Given the description of an element on the screen output the (x, y) to click on. 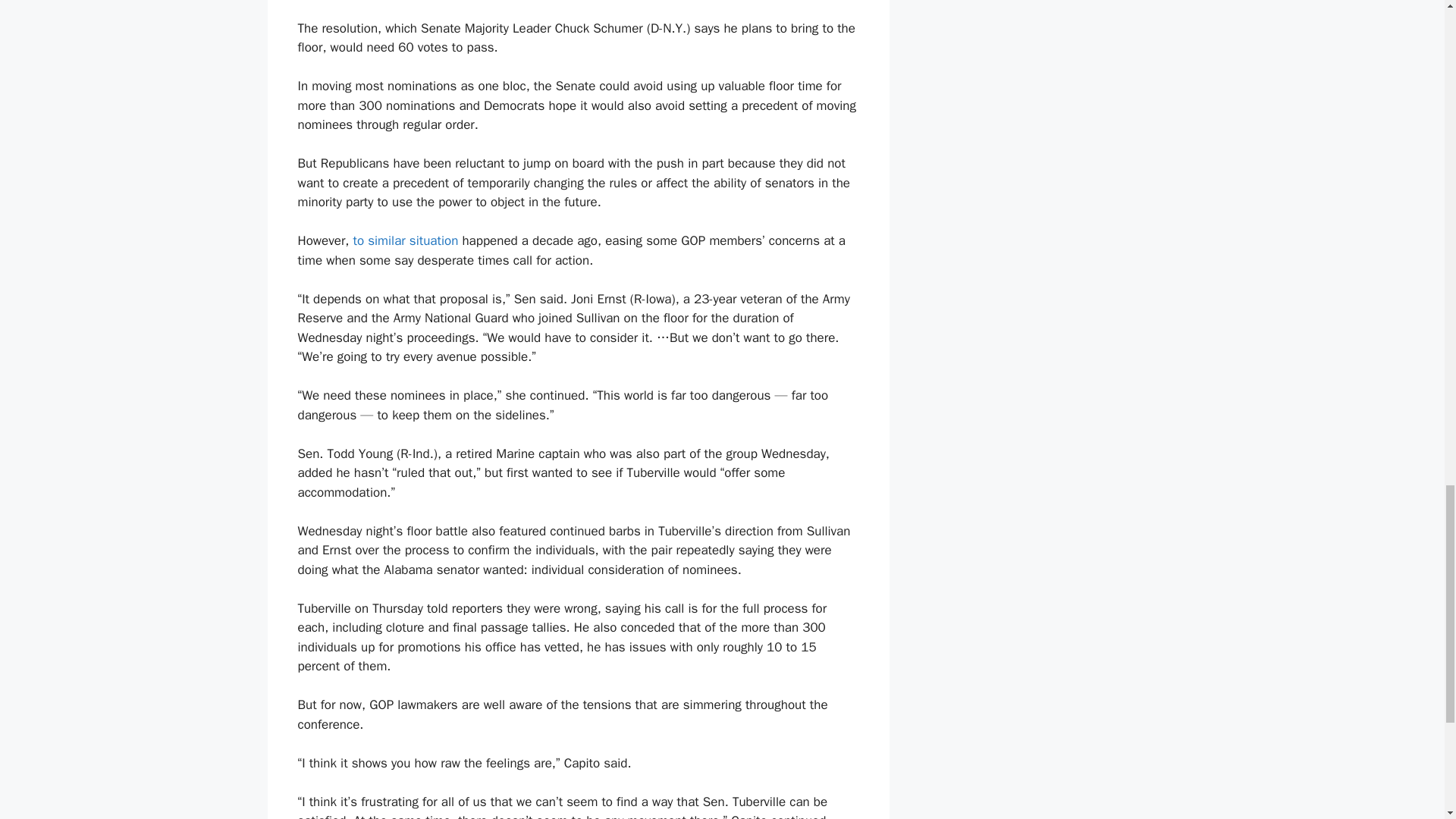
to similar situation (405, 240)
